Given the description of an element on the screen output the (x, y) to click on. 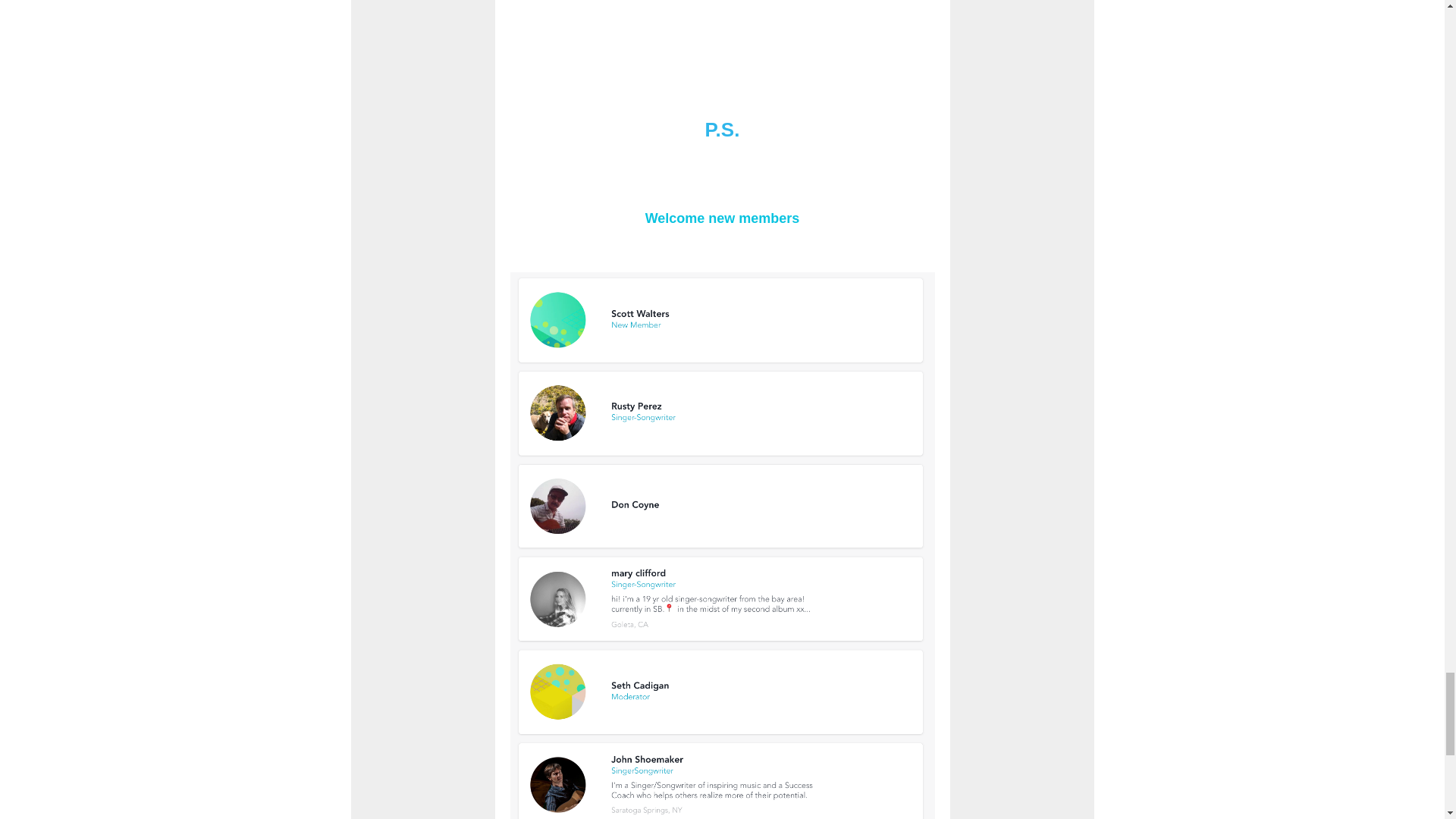
Welcome new members (722, 218)
